Given the description of an element on the screen output the (x, y) to click on. 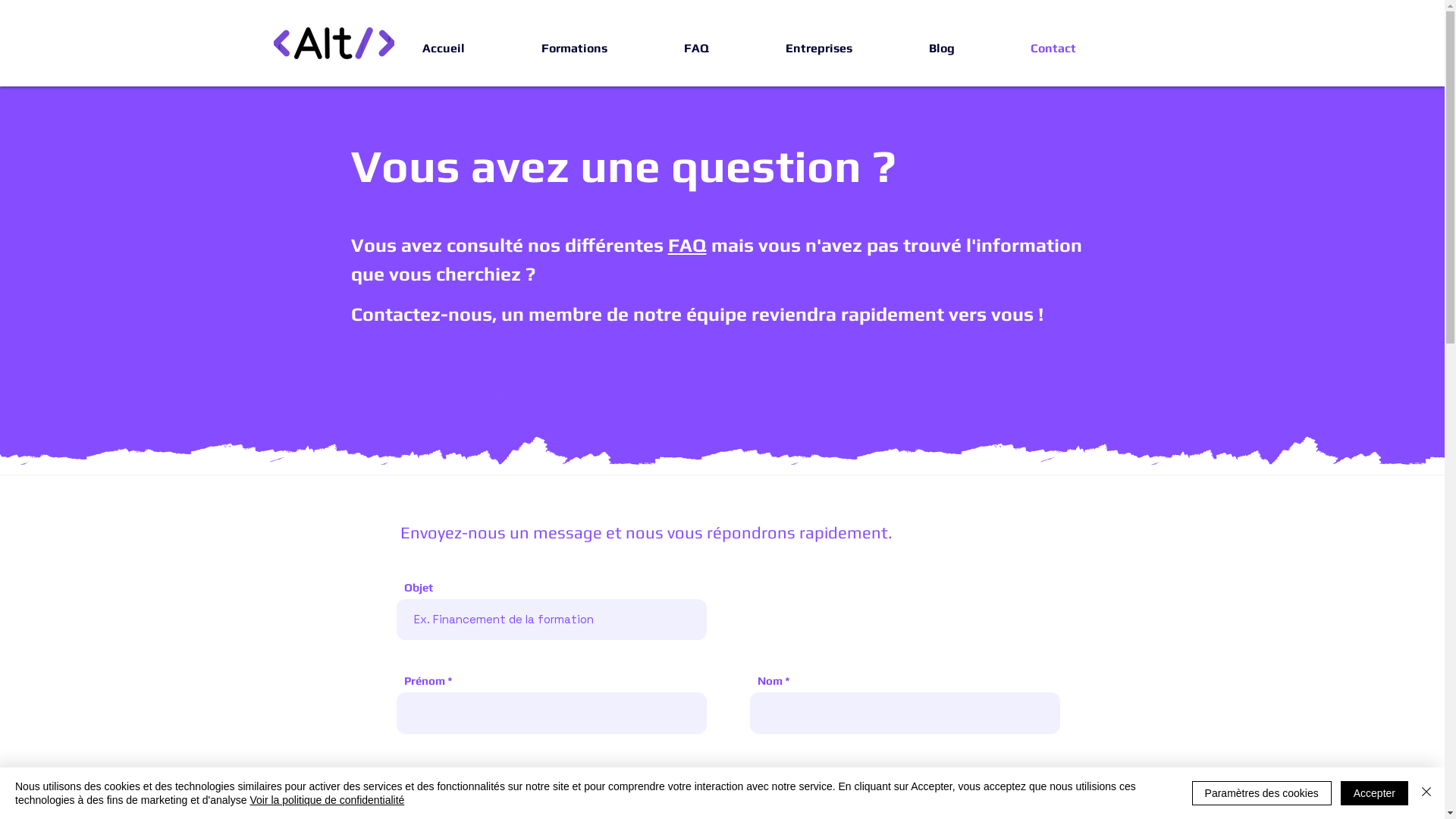
Formations Element type: text (547, 48)
Blog Element type: text (914, 48)
Entreprises Element type: text (791, 48)
FAQ Element type: text (669, 48)
Accueil Element type: text (416, 48)
FAQ Element type: text (686, 245)
Accepter Element type: text (1374, 793)
Contact Element type: text (1026, 48)
